Given the description of an element on the screen output the (x, y) to click on. 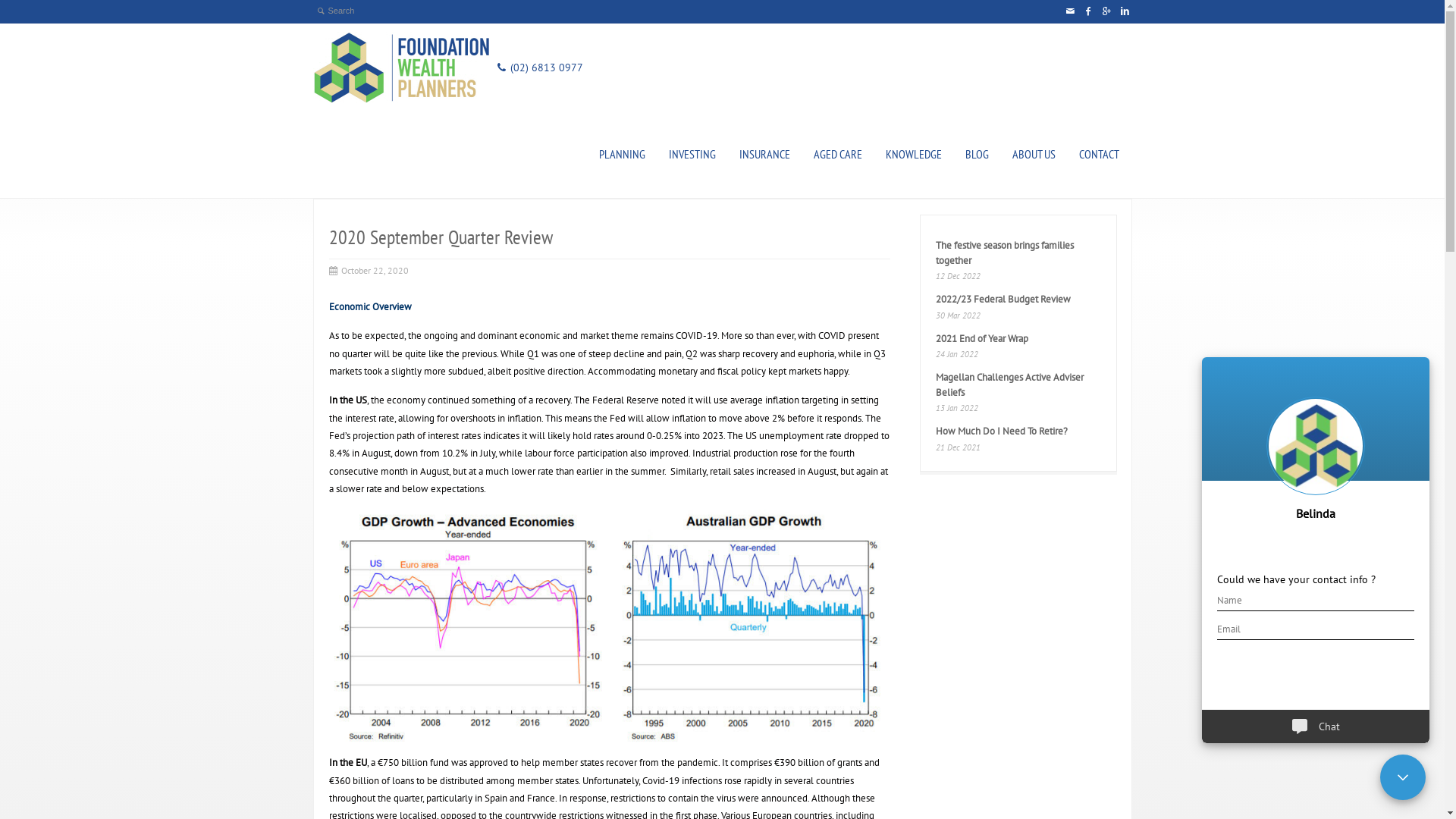
INVESTING Element type: text (691, 153)
PLANNING Element type: text (620, 153)
Foundation Wealth Planners Element type: hover (400, 67)
Email Element type: hover (1068, 10)
INSURANCE Element type: text (764, 153)
KNOWLEDGE Element type: text (912, 153)
2022/23 Federal Budget Review Element type: text (1002, 298)
CONTACT Element type: text (1098, 153)
Linkedin Element type: hover (1123, 10)
Magellan Challenges Active Adviser Beliefs Element type: text (1009, 384)
The festive season brings families together Element type: text (1004, 252)
ABOUT US Element type: text (1033, 153)
BLOG Element type: text (976, 153)
Google + Element type: hover (1105, 10)
2021 End of Year Wrap Element type: text (981, 338)
AGED CARE Element type: text (837, 153)
How Much Do I Need To Retire? Element type: text (1001, 430)
Facebook Element type: hover (1087, 10)
